Given the description of an element on the screen output the (x, y) to click on. 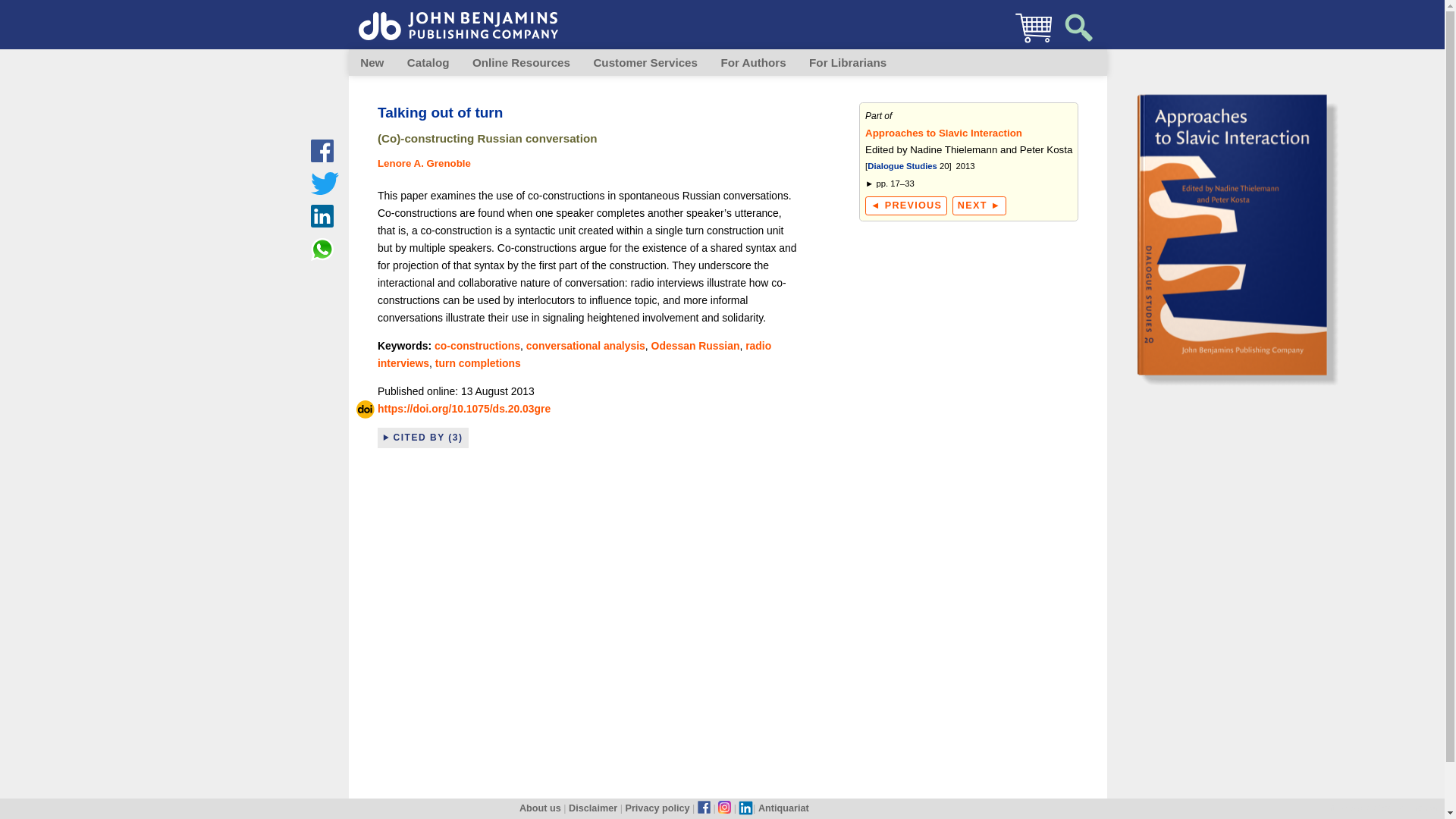
New (372, 62)
New (371, 62)
Catalog (428, 62)
Catalog (428, 62)
